Given the description of an element on the screen output the (x, y) to click on. 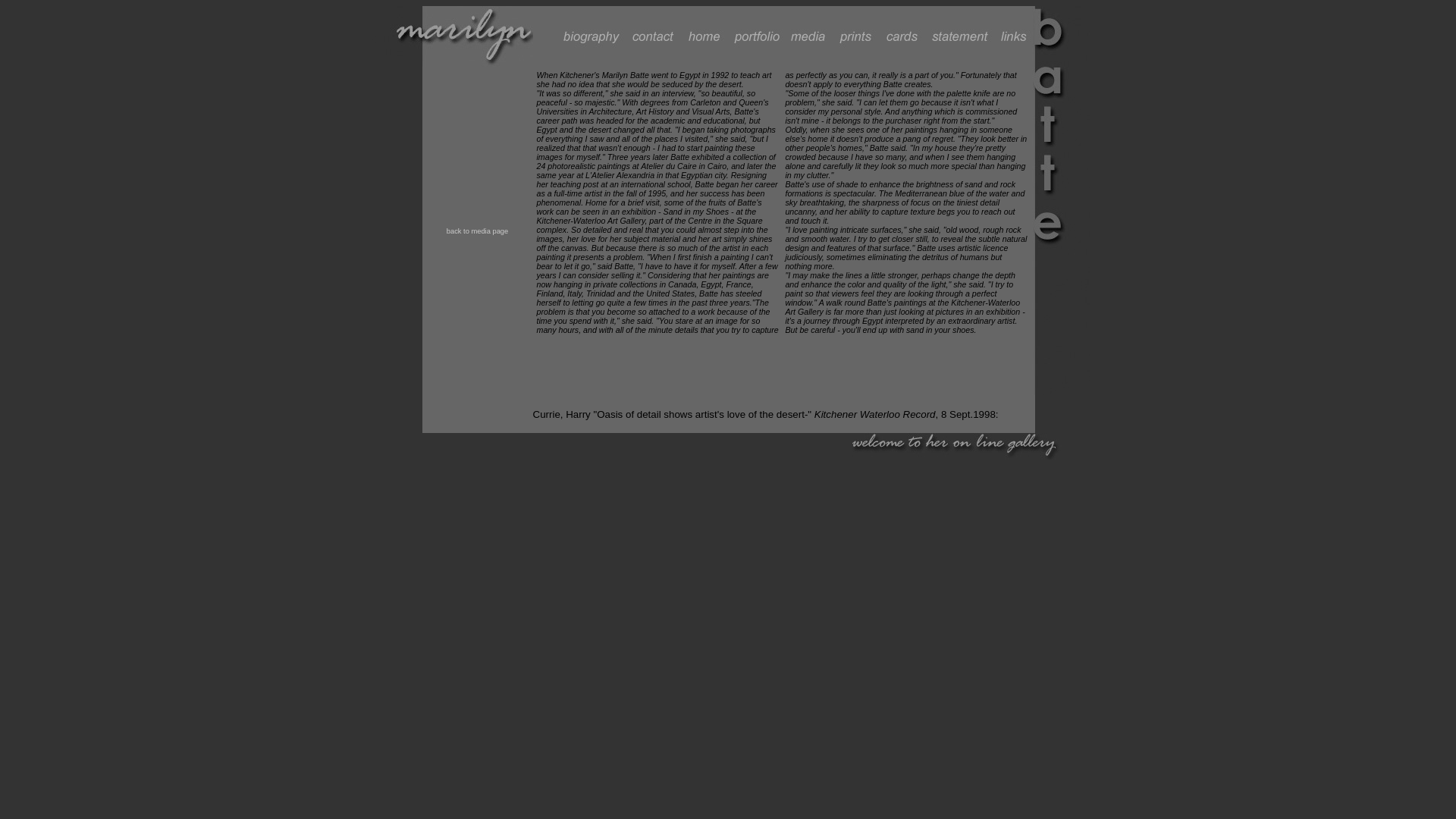
back to media page (477, 231)
